Given the description of an element on the screen output the (x, y) to click on. 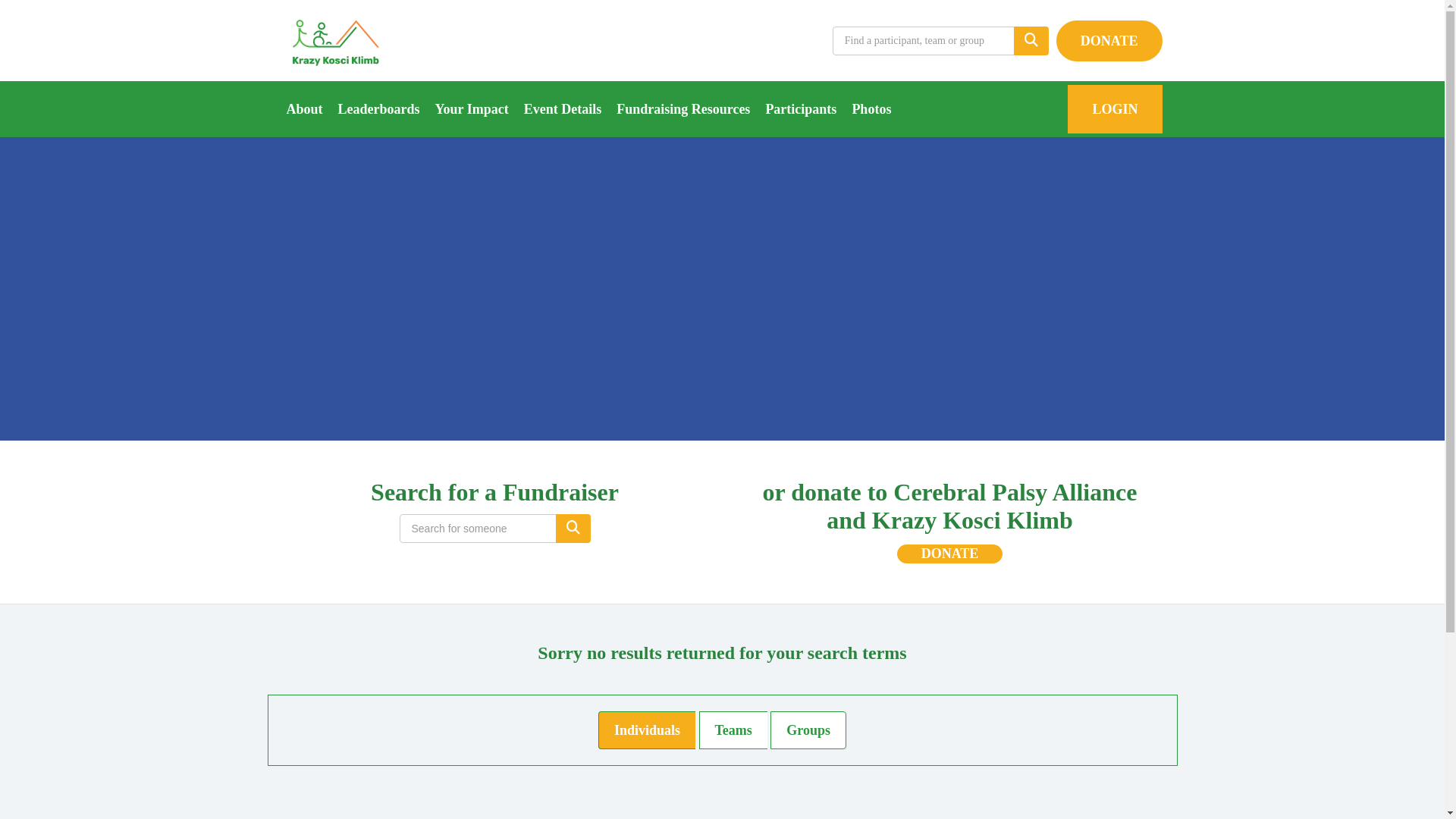
Teams Element type: text (733, 730)
Photos Element type: text (871, 109)
Individuals Element type: text (646, 730)
Participants Element type: text (800, 109)
DONATE Element type: text (950, 553)
Event Details Element type: text (562, 109)
About Element type: text (304, 109)
Fundraising Resources Element type: text (682, 109)
Leaderboards Element type: text (378, 109)
DONATE Element type: text (1109, 39)
Your Impact Element type: text (471, 109)
LOGIN Element type: text (1114, 108)
Groups Element type: text (808, 730)
